Given the description of an element on the screen output the (x, y) to click on. 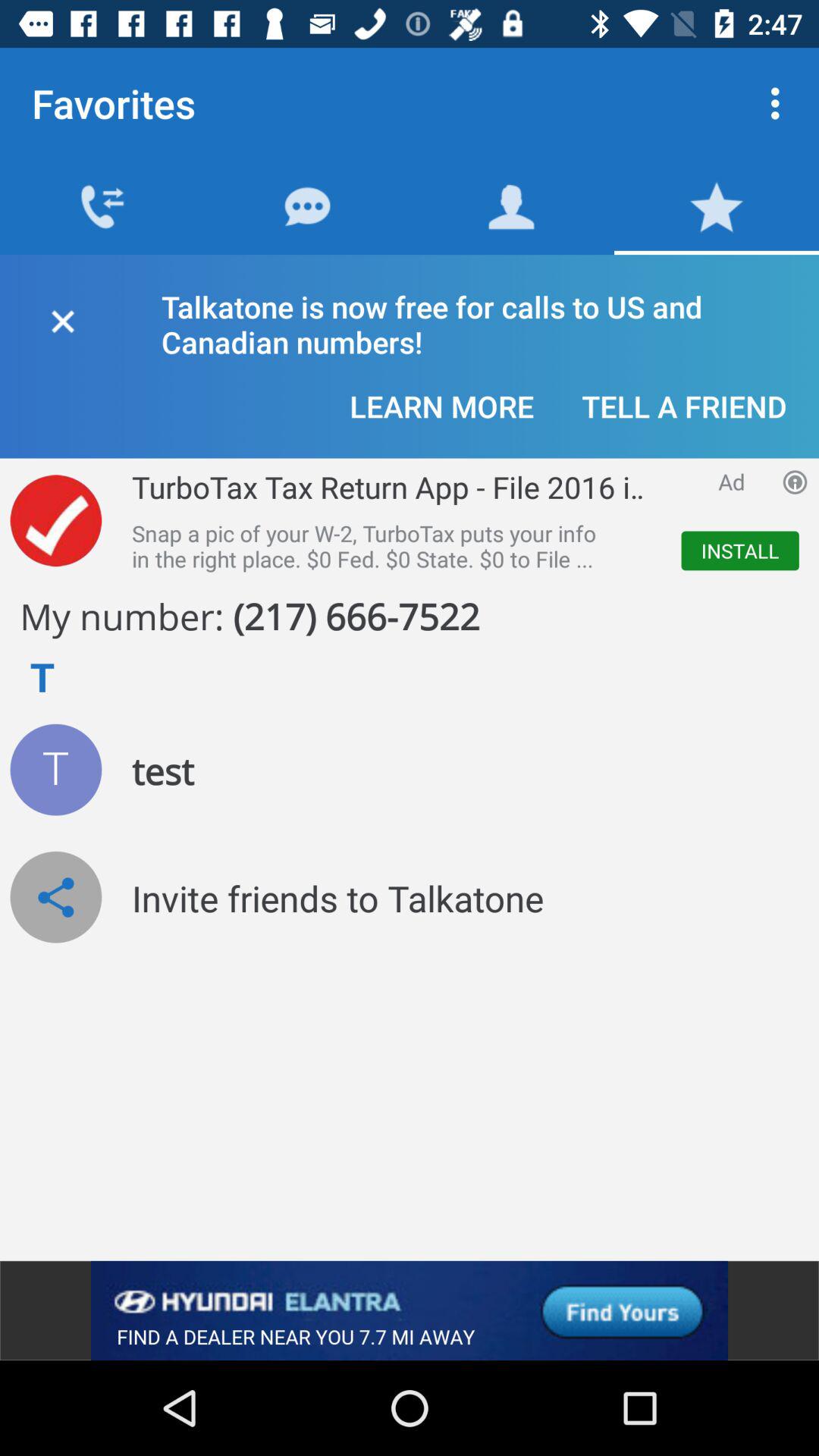
test icon (55, 769)
